Given the description of an element on the screen output the (x, y) to click on. 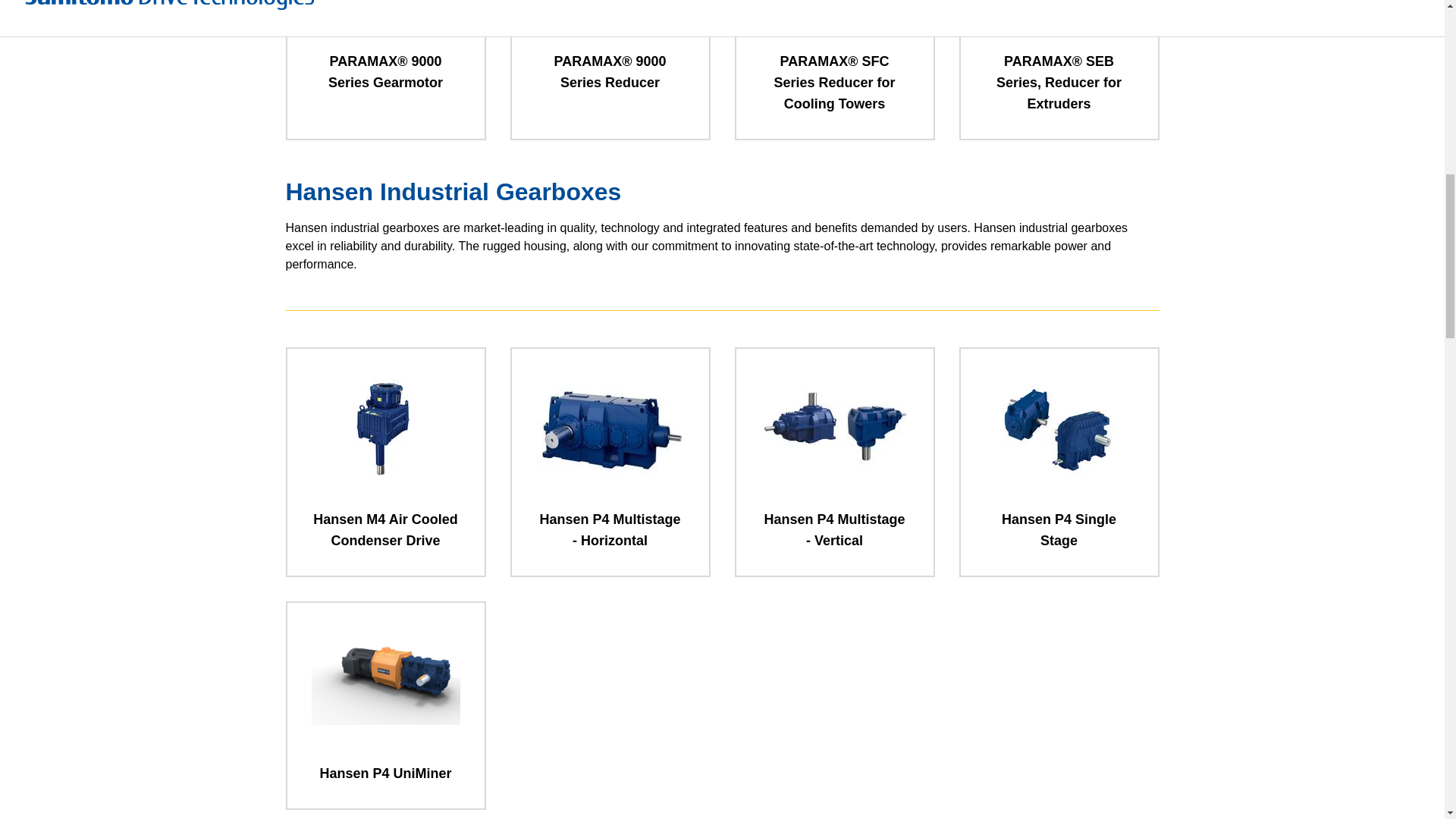
web June 2018 (385, 428)
web  june 2018 - 750x525 (1058, 428)
Hansen Uniminer (385, 682)
Hansen P4 UniMiner (385, 705)
SFC (834, 13)
